Given the description of an element on the screen output the (x, y) to click on. 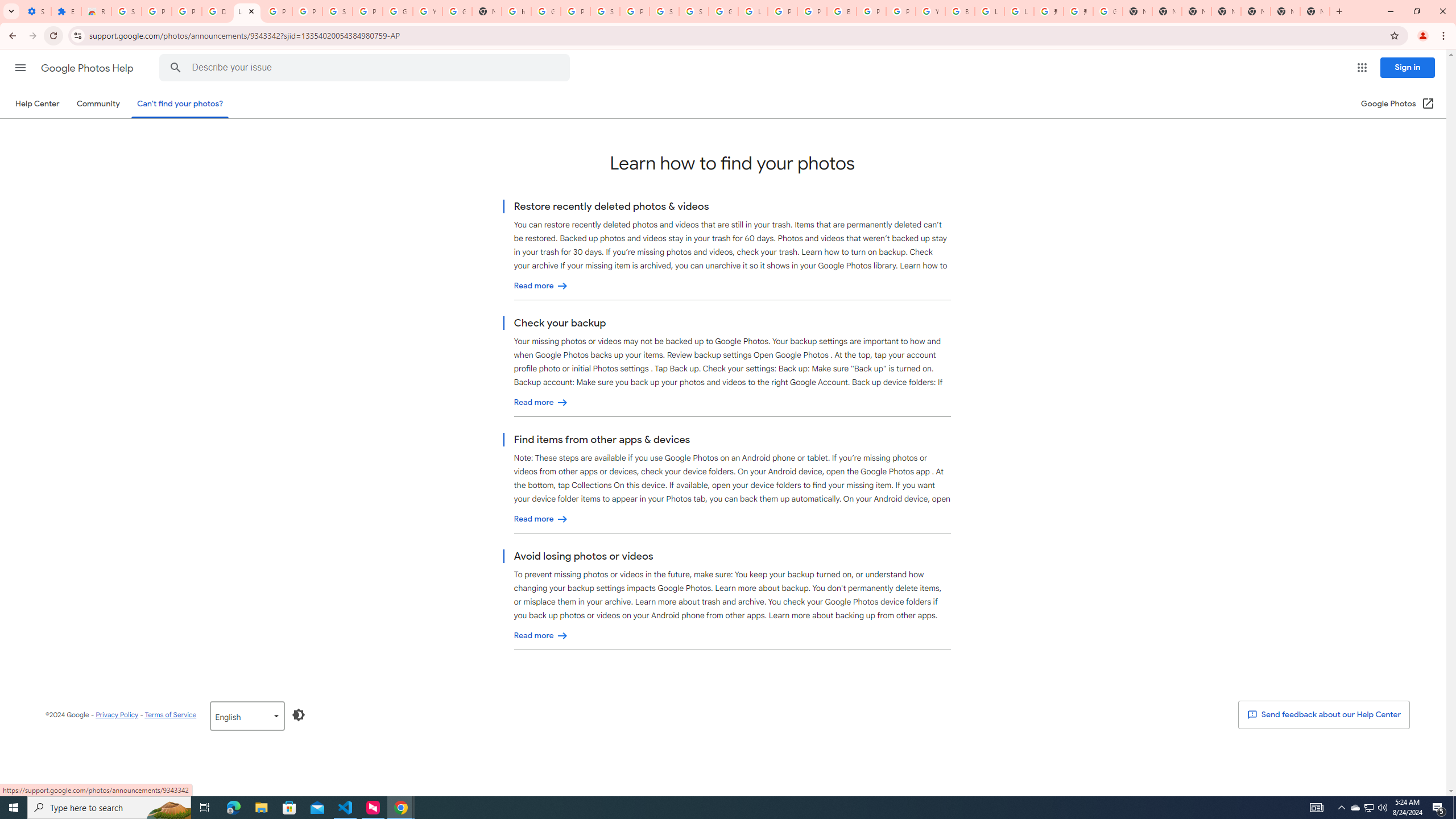
https://scholar.google.com/ (515, 11)
Find items from other apps & devices (541, 518)
New Tab (1314, 11)
Learn how to find your photos - Google Photos Help (247, 11)
Sign in - Google Accounts (693, 11)
Avoid losing photos or videos (541, 635)
